Given the description of an element on the screen output the (x, y) to click on. 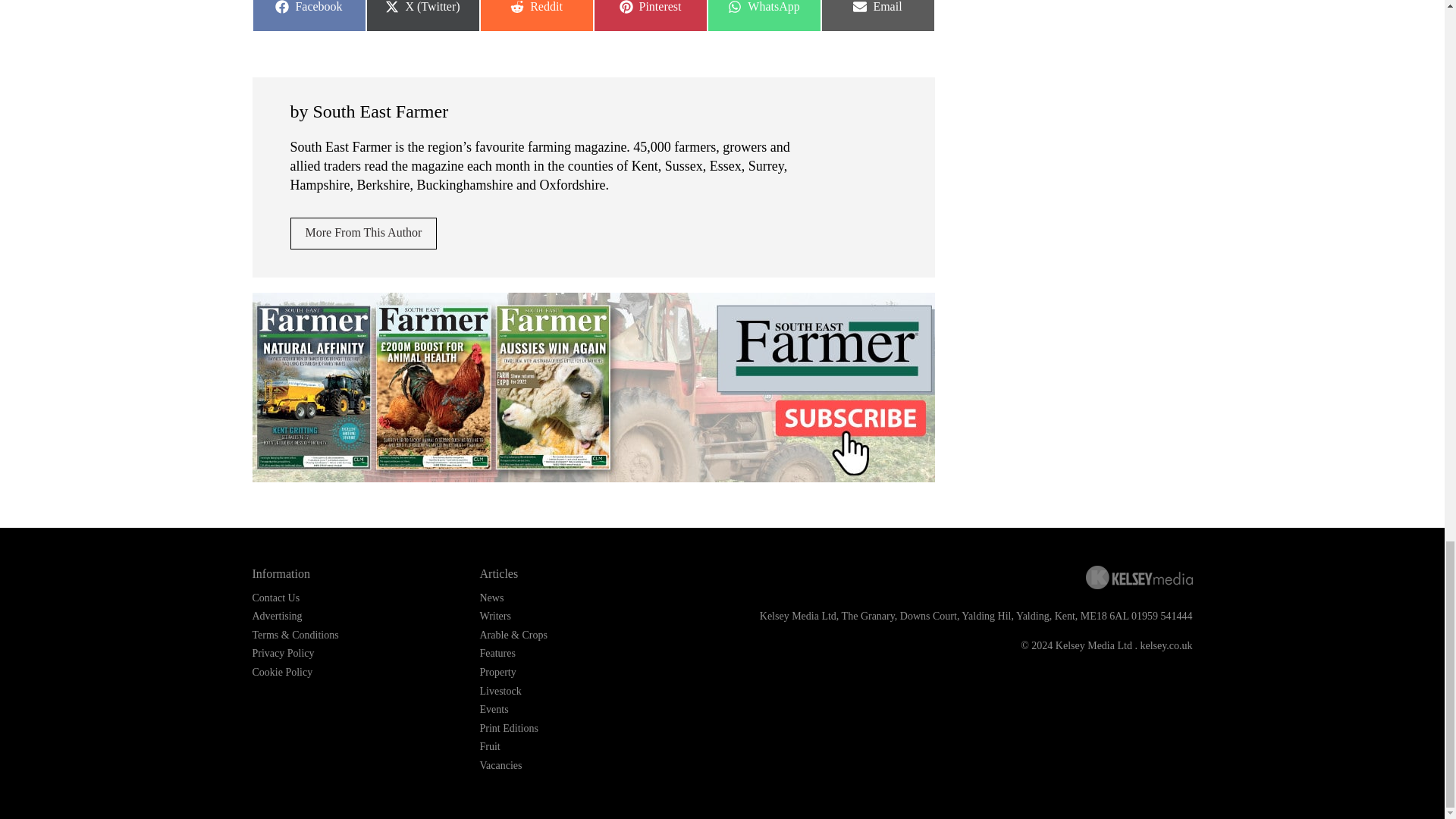
More From This Author (535, 15)
Contact Us (362, 233)
Advertising (763, 15)
